Given the description of an element on the screen output the (x, y) to click on. 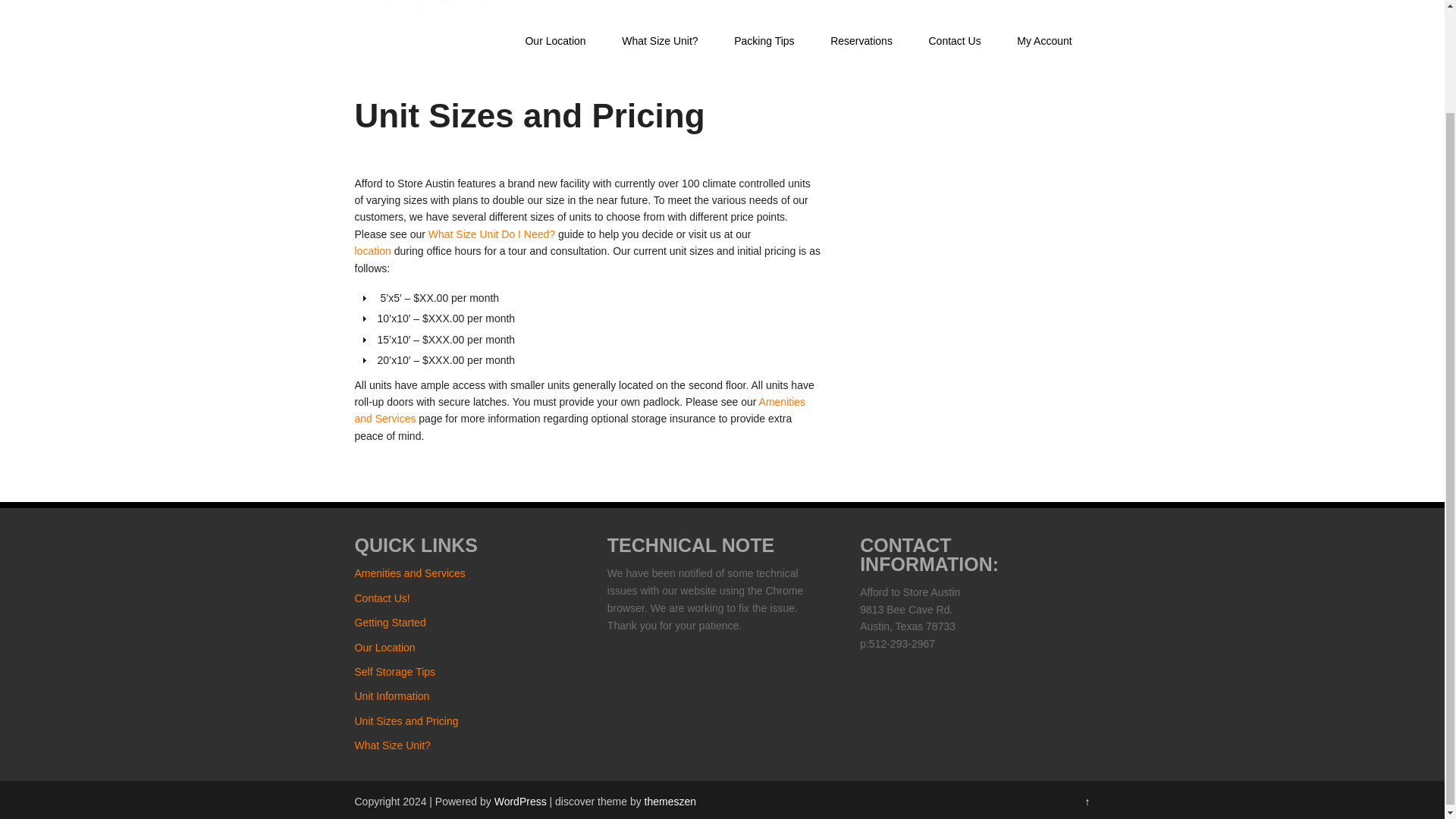
Amenities and Services (410, 573)
What Size Unit? (660, 40)
Reservations (861, 40)
Contact Us! (382, 598)
Amenities and Services (580, 410)
location (373, 250)
Our Location (384, 647)
Unit Sizes and Pricing (406, 720)
What Size Unit? (392, 745)
Contact Us (954, 40)
Afford to Store Austin (438, 11)
Amenities and Services (580, 410)
WordPress (521, 801)
Getting Started (390, 622)
Our Location (373, 250)
